Given the description of an element on the screen output the (x, y) to click on. 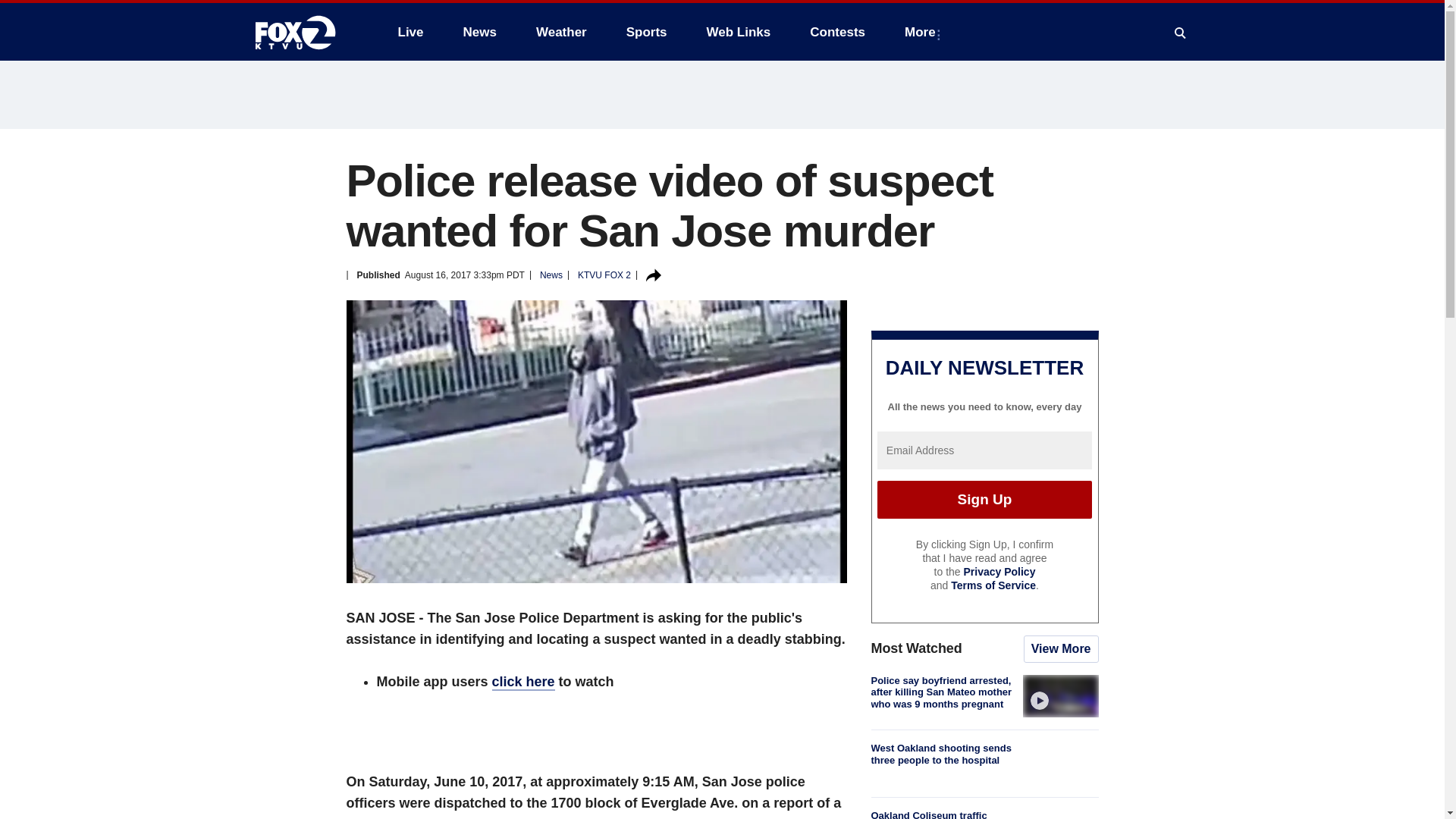
More (922, 32)
Web Links (738, 32)
Sign Up (984, 499)
Contests (837, 32)
Weather (561, 32)
Sports (646, 32)
Live (410, 32)
News (479, 32)
